Given the description of an element on the screen output the (x, y) to click on. 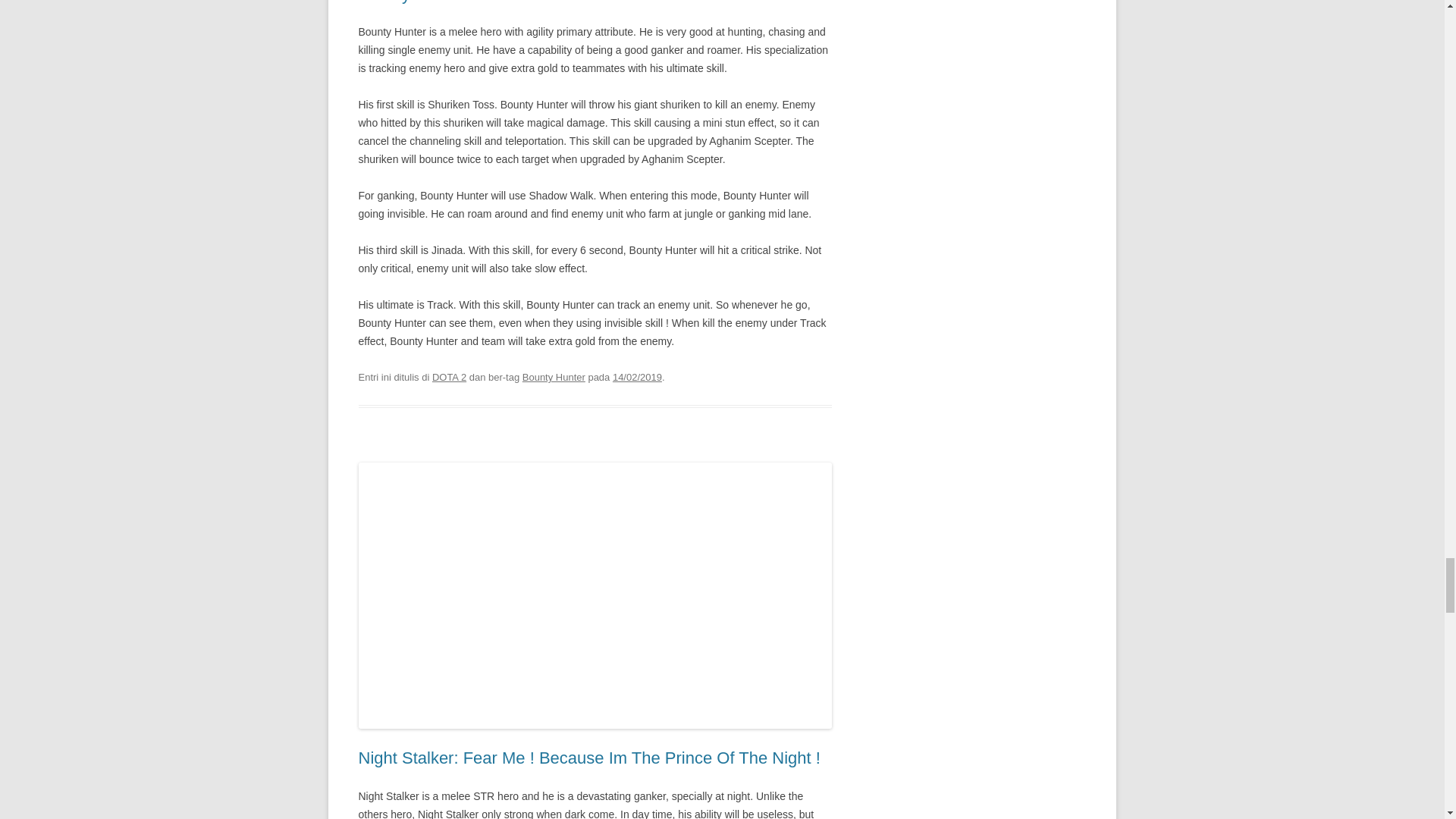
03:34 (637, 377)
